Given the description of an element on the screen output the (x, y) to click on. 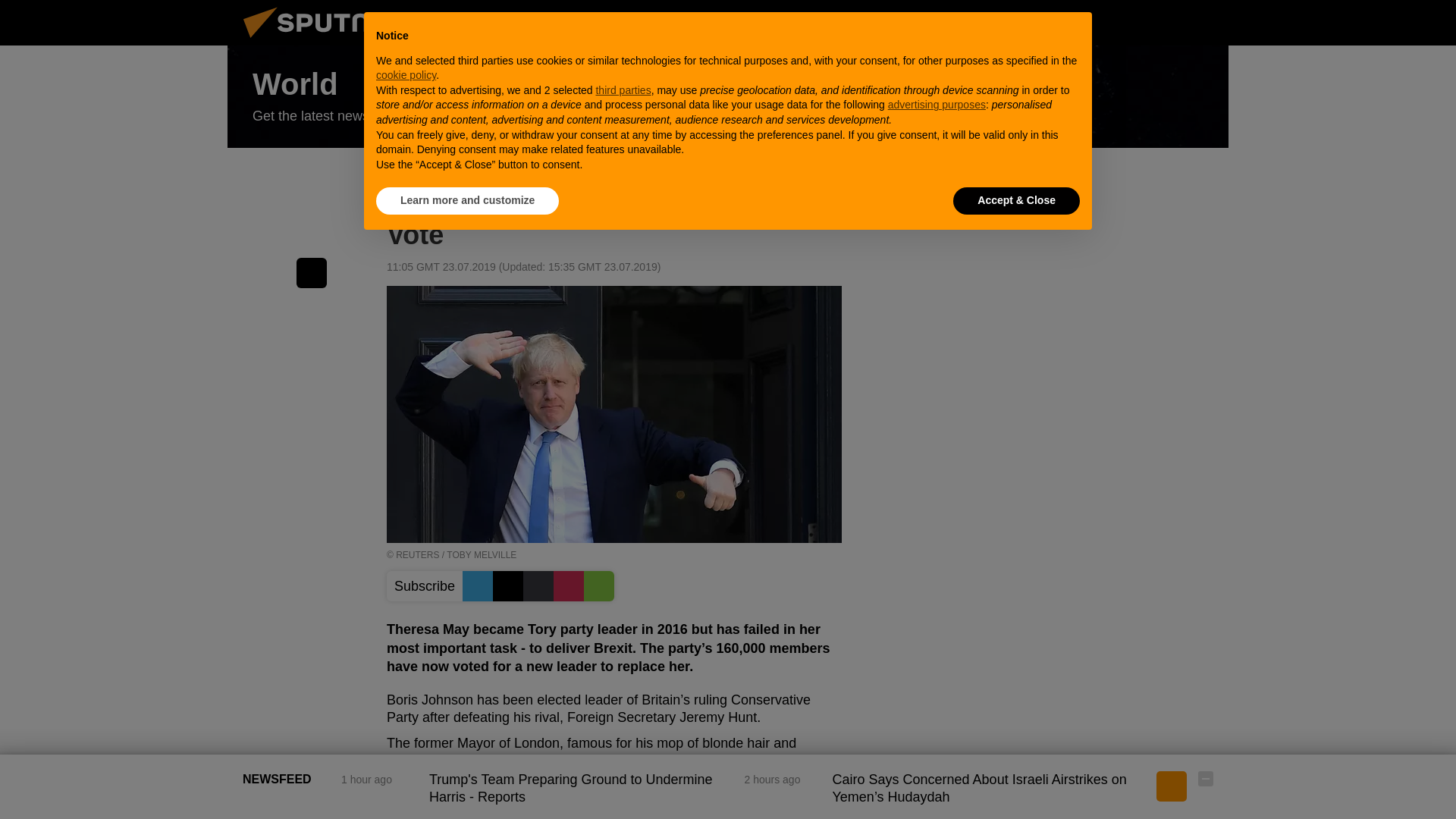
Sputnik International (325, 41)
Chats (1206, 22)
Authorization (1129, 22)
World (727, 96)
